Given the description of an element on the screen output the (x, y) to click on. 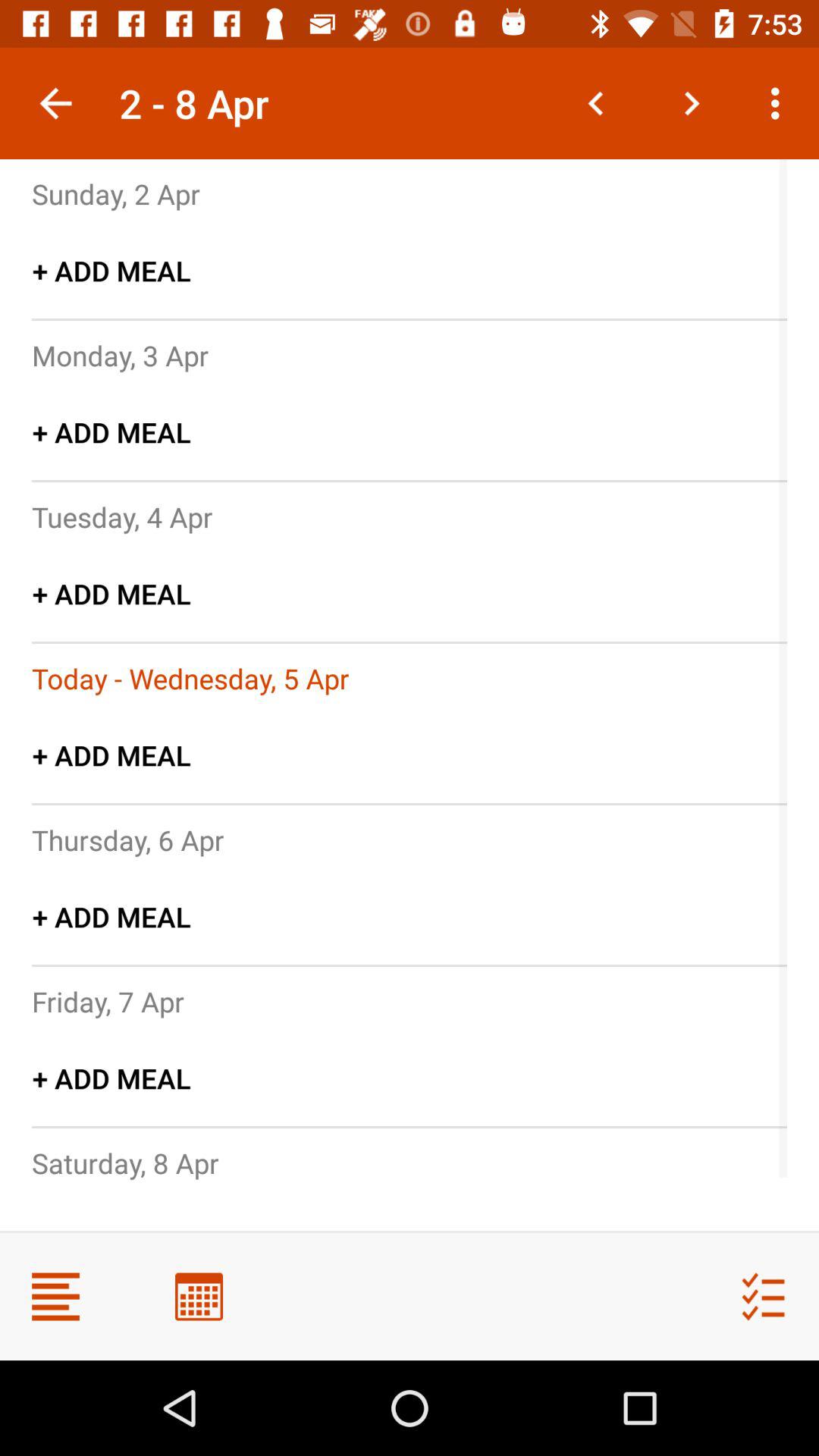
opens calendar (198, 1296)
